Given the description of an element on the screen output the (x, y) to click on. 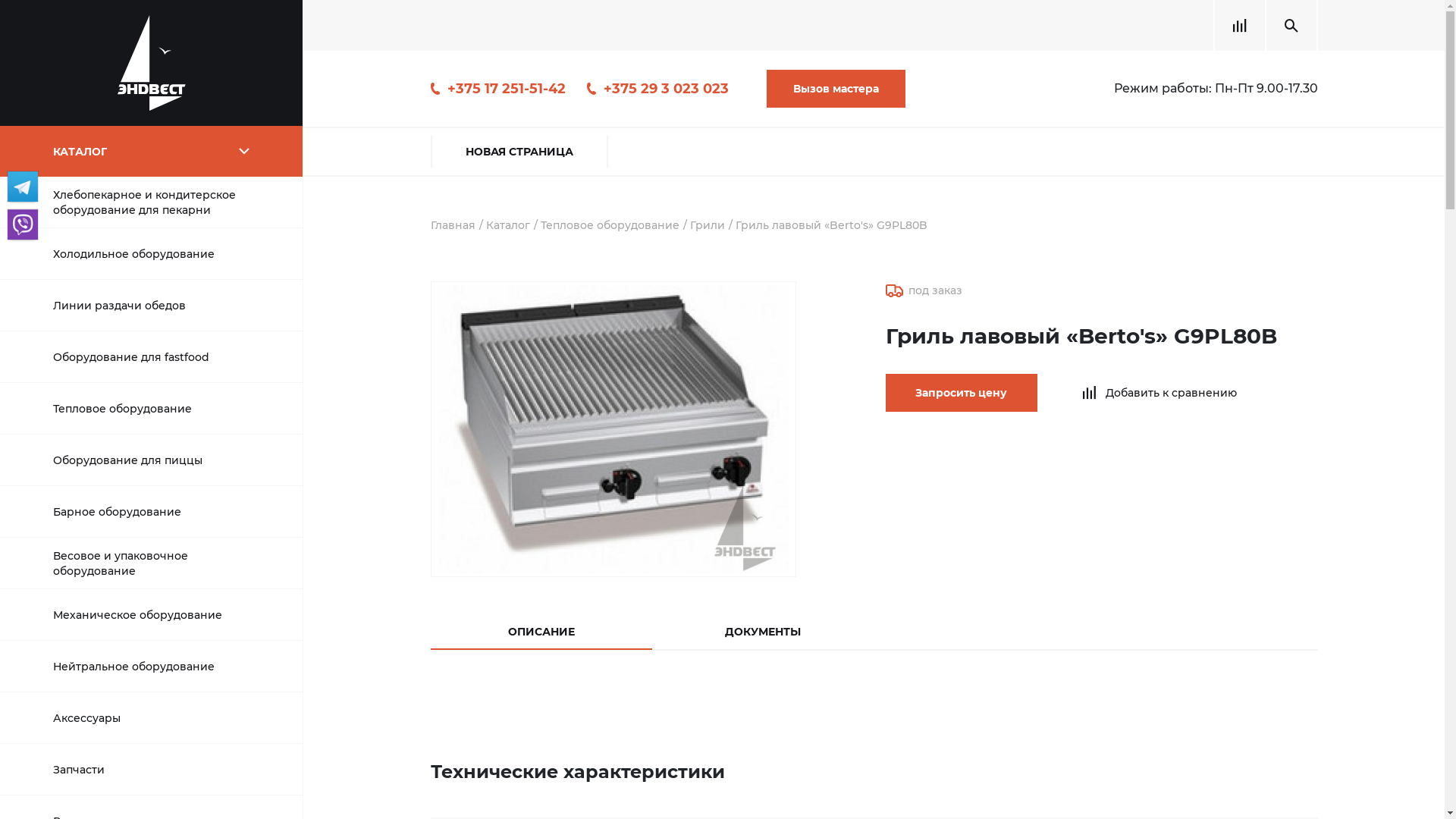
+375 17 251-51-42 Element type: text (497, 87)
+375 29 3 023 023 Element type: text (657, 87)
